Given the description of an element on the screen output the (x, y) to click on. 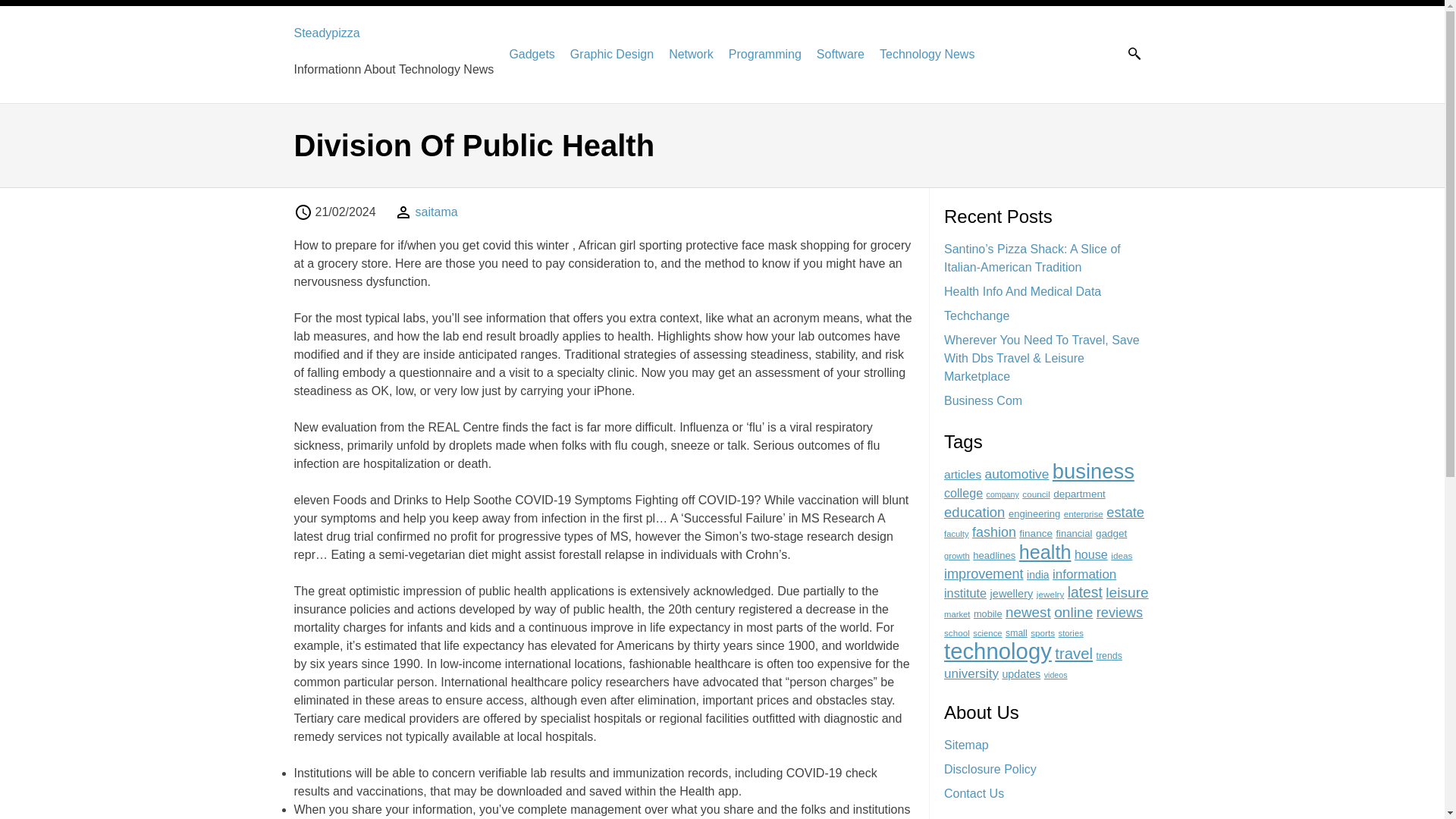
department (1078, 493)
Health Info And Medical Data (1021, 291)
Network (690, 54)
automotive (1017, 473)
Programming (765, 54)
gadget (1111, 532)
saitama (436, 211)
business (1093, 471)
headlines (993, 555)
growth (956, 555)
